Given the description of an element on the screen output the (x, y) to click on. 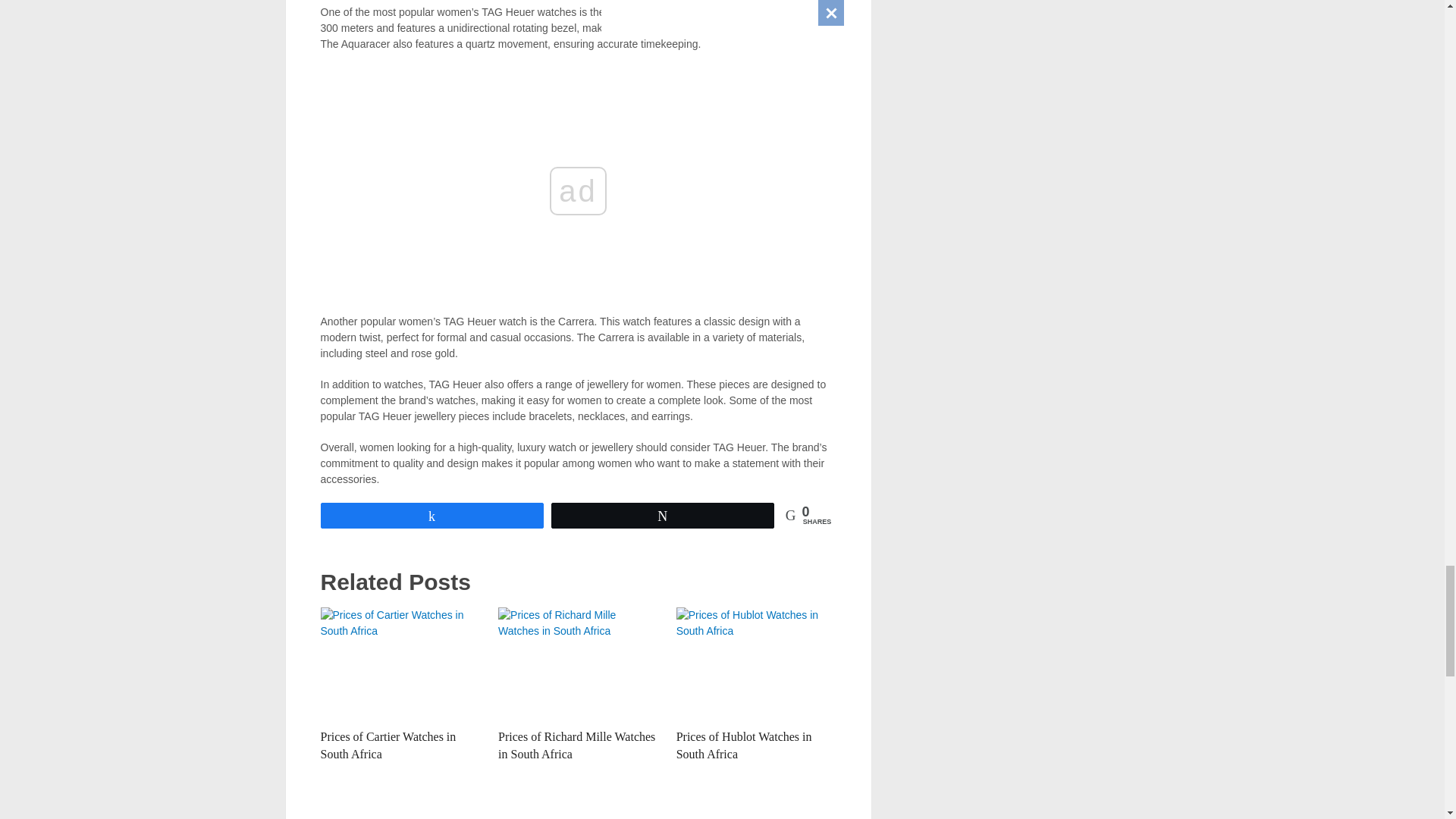
Prices of Richard Mille Watches in South Africa (577, 664)
Prices of Cartier Watches in South Africa (400, 664)
Prices of Hublot Watches in South Africa (744, 745)
Prices of Richard Mille Watches in South Africa (576, 745)
Prices of Hublot Watches in South Africa (756, 664)
Prices of Cartier Watches in South Africa (387, 745)
